Given the description of an element on the screen output the (x, y) to click on. 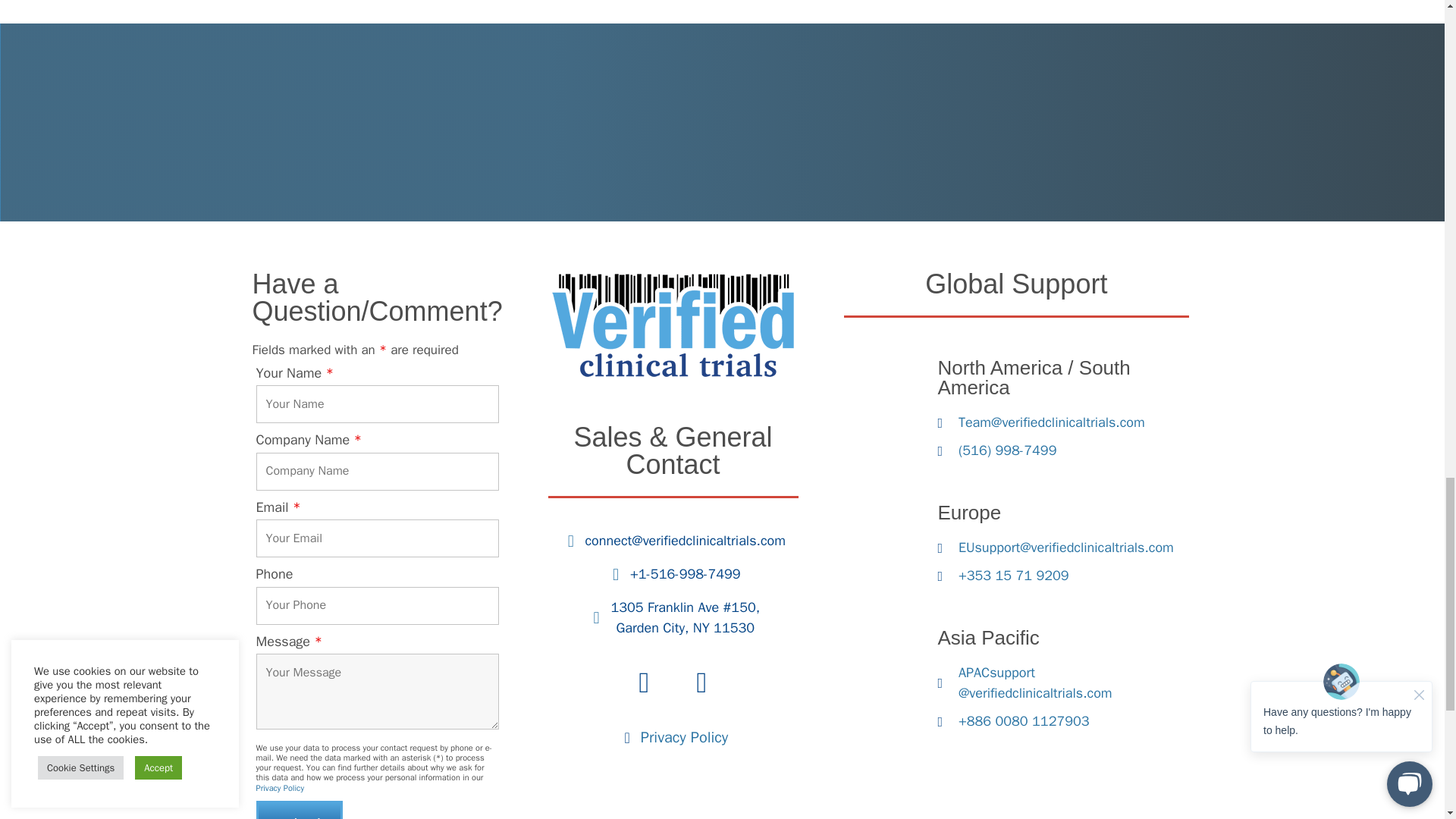
Submit (299, 809)
